Given the description of an element on the screen output the (x, y) to click on. 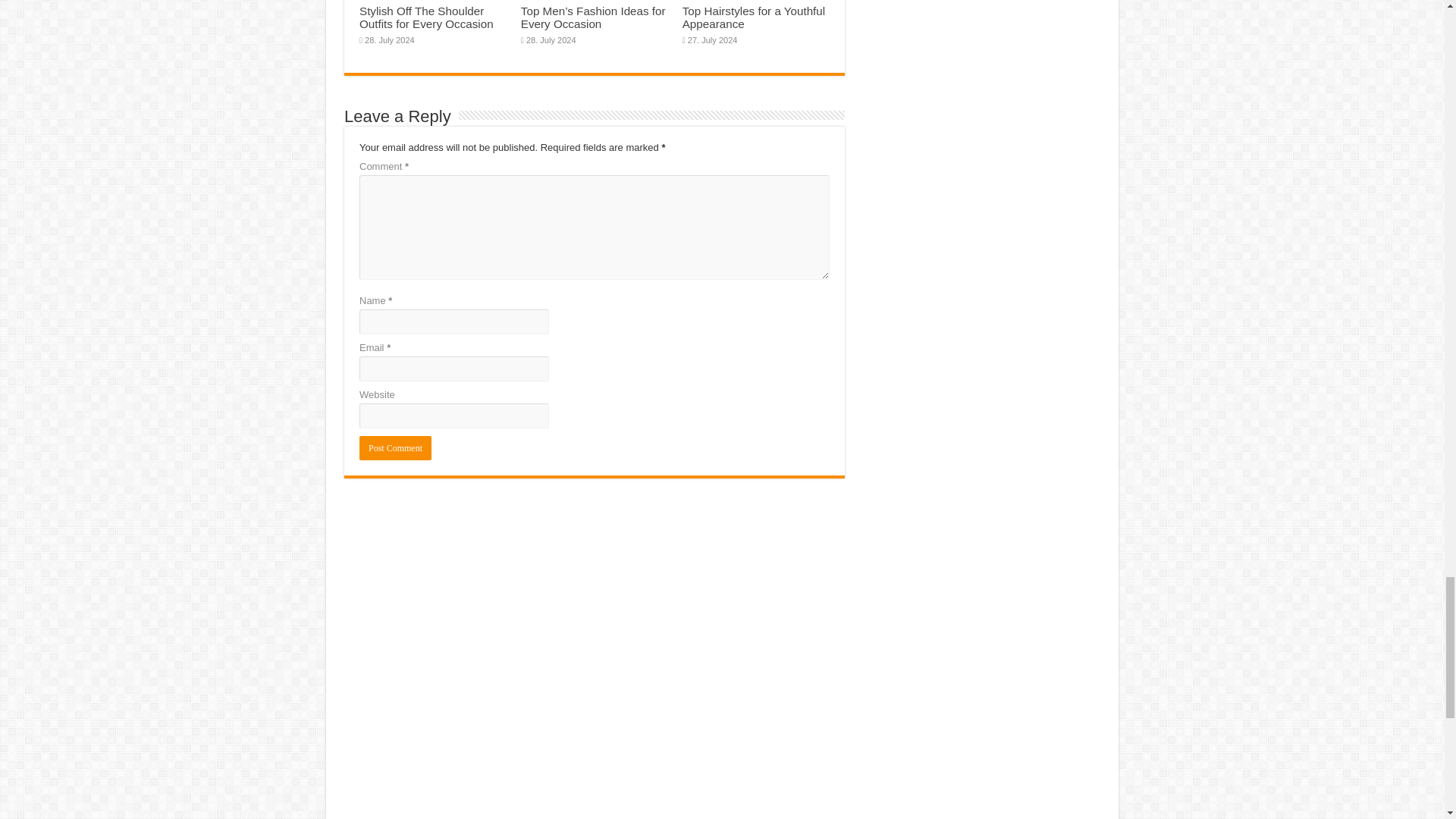
Stylish Off The Shoulder Outfits for Every Occasion (426, 17)
Post Comment (394, 447)
Top Hairstyles for a Youthful Appearance (753, 17)
Post Comment (394, 447)
